Given the description of an element on the screen output the (x, y) to click on. 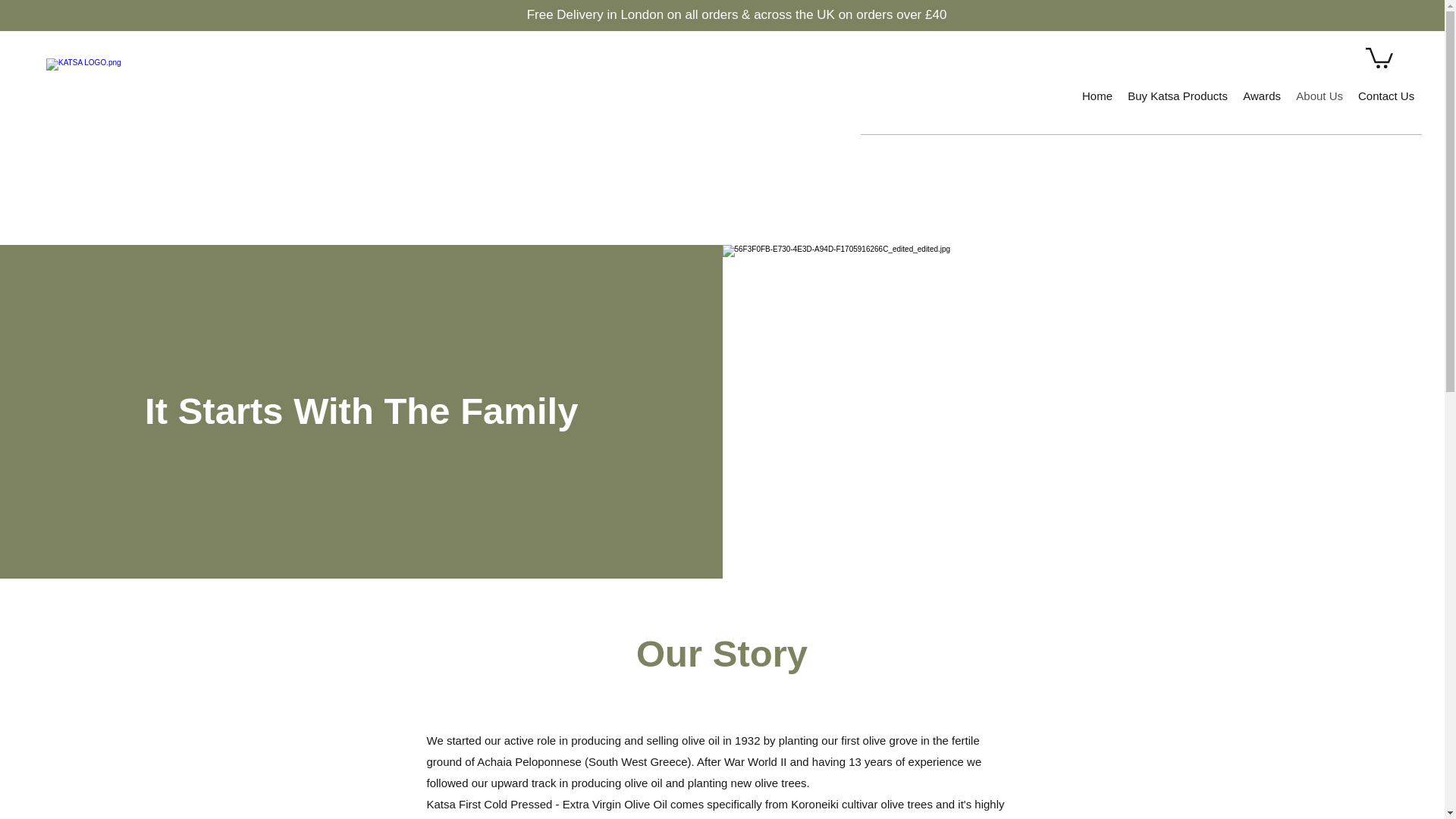
About Us (1319, 95)
Home (1096, 95)
Awards (1261, 95)
Contact Us (1386, 95)
